Given the description of an element on the screen output the (x, y) to click on. 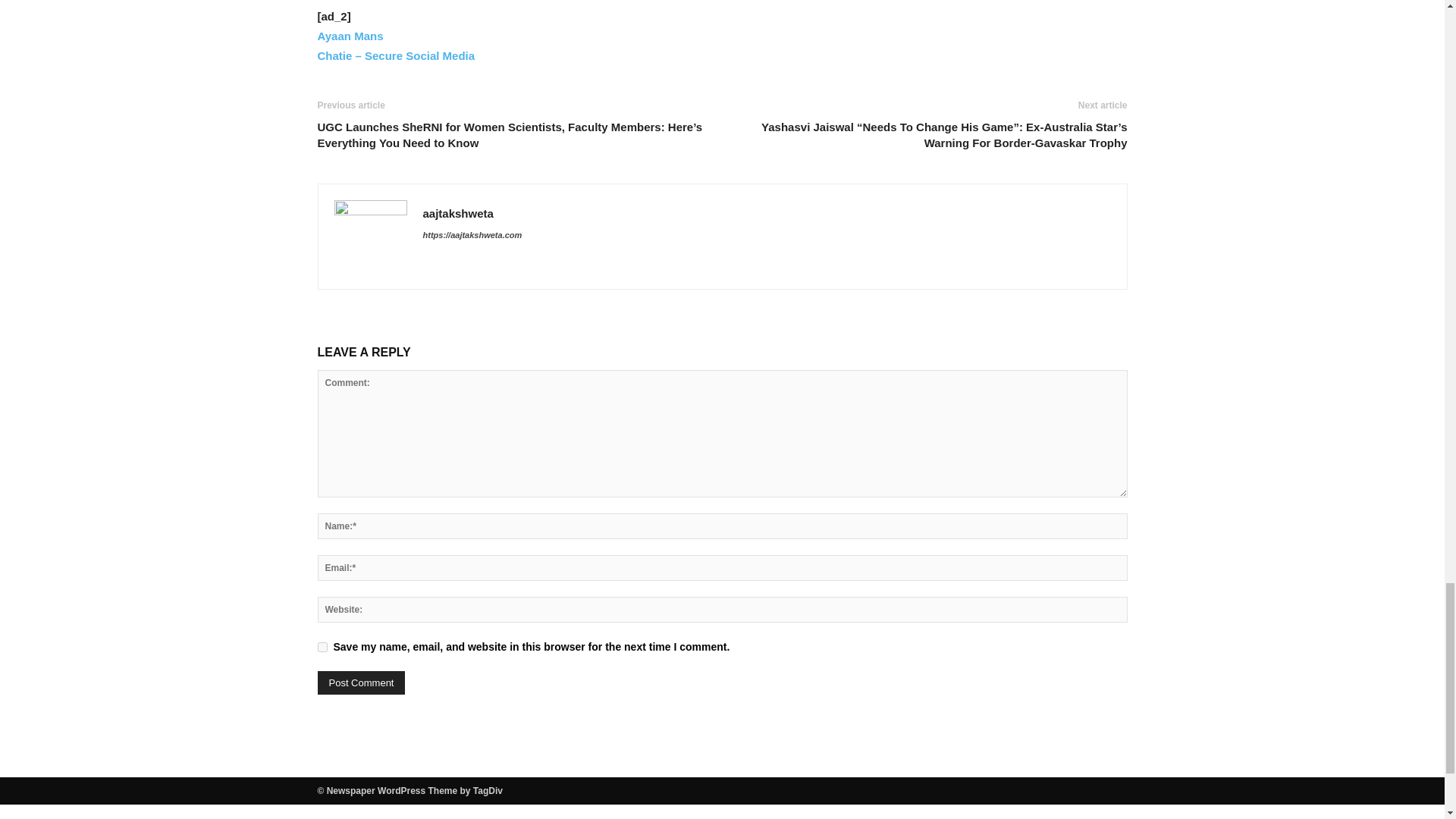
aajtakshweta (458, 213)
Ayaan Mans (349, 35)
Post Comment (360, 682)
yes (321, 646)
Post Comment (360, 682)
